Given the description of an element on the screen output the (x, y) to click on. 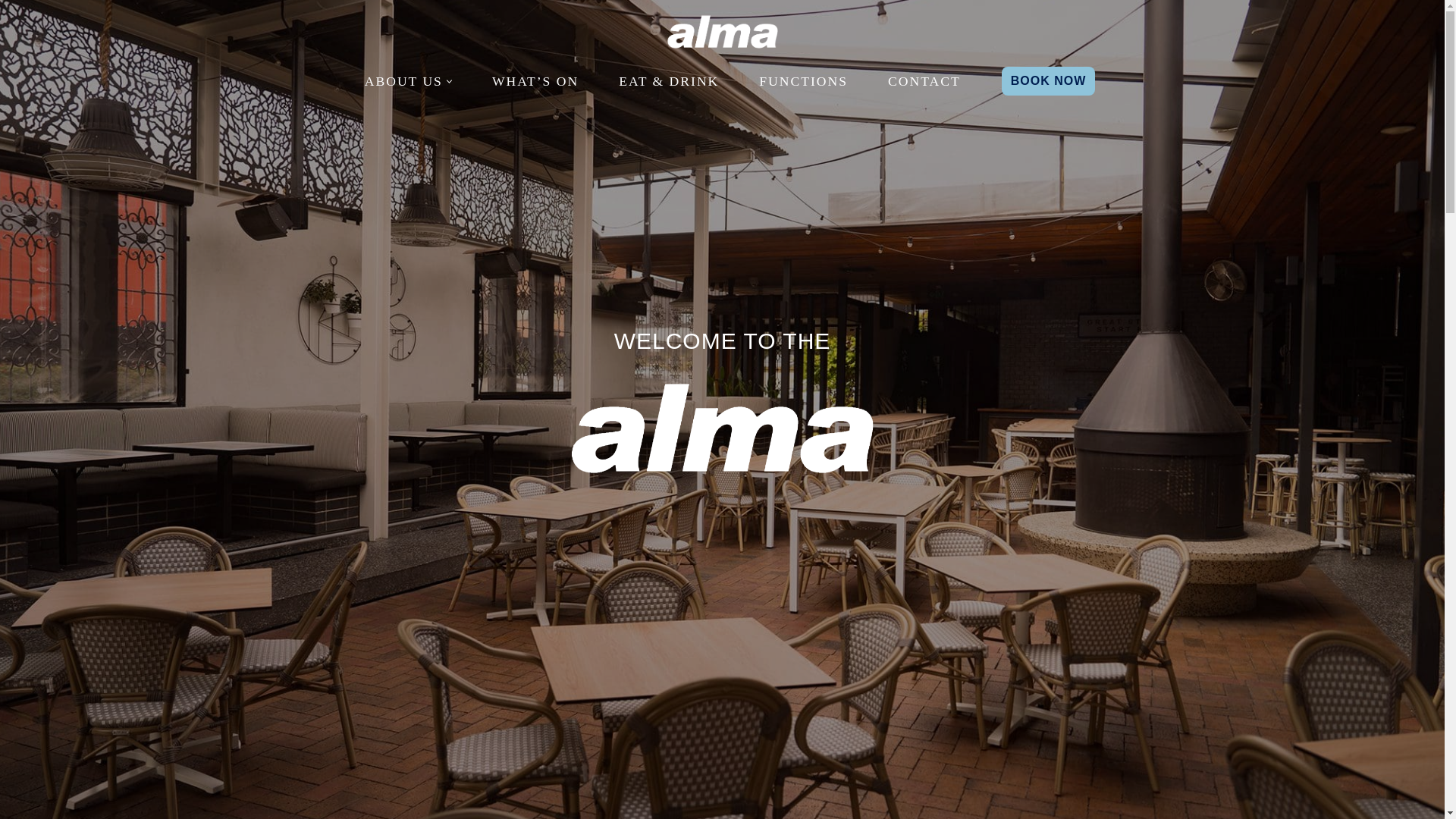
Skip to content (11, 31)
FUNCTIONS (802, 80)
ABOUT US (403, 80)
CONTACT (924, 80)
BOOK NOW (1048, 80)
